Given the description of an element on the screen output the (x, y) to click on. 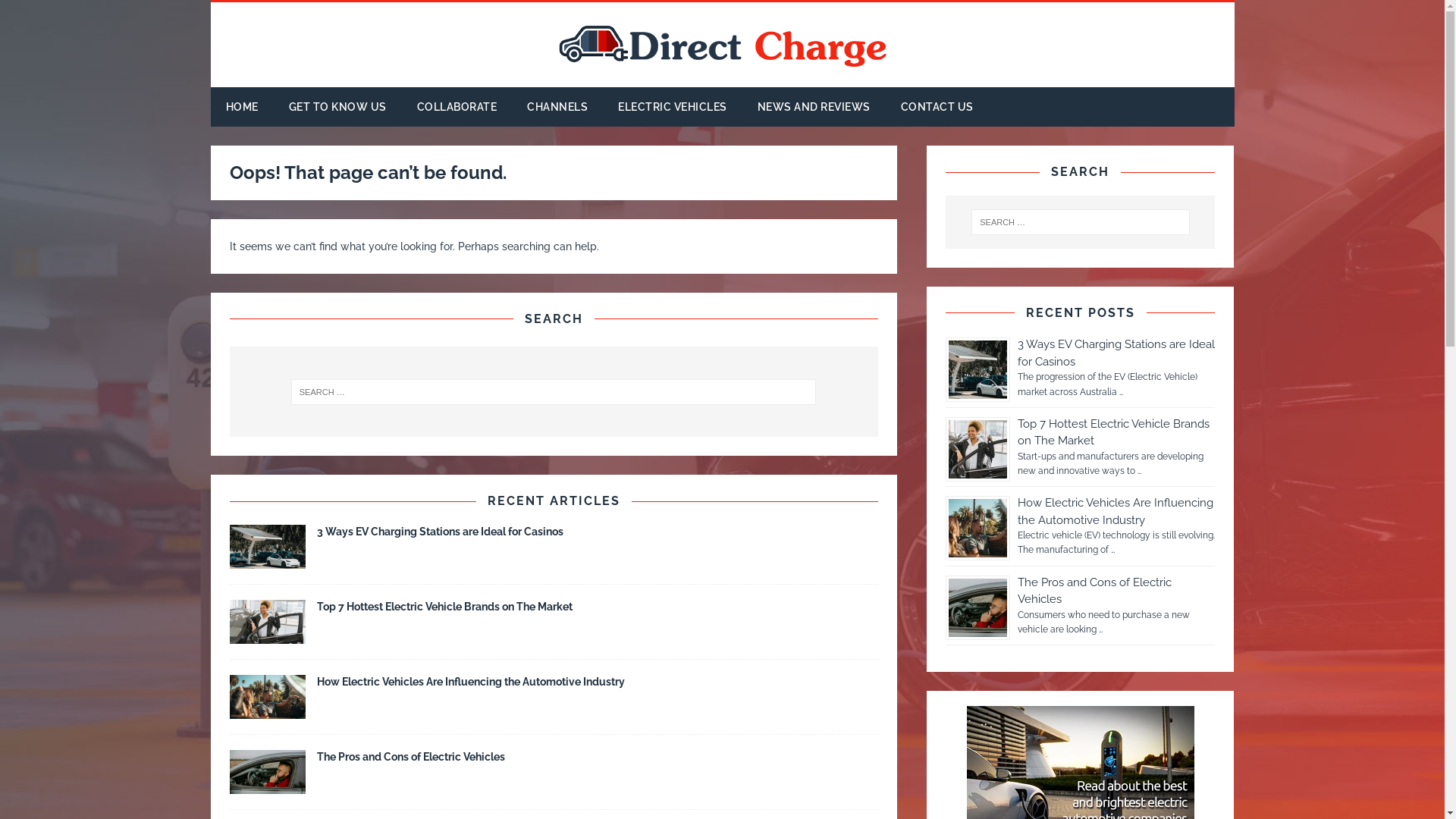
3 Ways EV Charging Stations are Ideal for Casinos Element type: hover (266, 560)
Top 7 Hottest Electric Vehicle Brands on The Market Element type: text (444, 606)
NEWS AND REVIEWS Element type: text (812, 106)
3 Ways EV Charging Stations are Ideal for Casinos Element type: text (439, 531)
The Pros and Cons of Electric Vehicles Element type: text (1094, 590)
HOME Element type: text (241, 106)
Top 7 Hottest Electric Vehicle Brands on The Market Element type: text (1113, 432)
CHANNELS Element type: text (556, 106)
3 Ways EV Charging Stations are Ideal for Casinos Element type: text (1115, 352)
CONTACT US Element type: text (936, 106)
Top 7 Hottest Electric Vehicle Brands on The Market Element type: hover (266, 635)
Search Element type: text (37, 13)
The Pros and Cons of Electric Vehicles Element type: hover (266, 785)
COLLABORATE Element type: text (456, 106)
ELECTRIC VEHICLES Element type: text (672, 106)
The Pros and Cons of Electric Vehicles Element type: text (410, 756)
GET TO KNOW US Element type: text (337, 106)
